Given the description of an element on the screen output the (x, y) to click on. 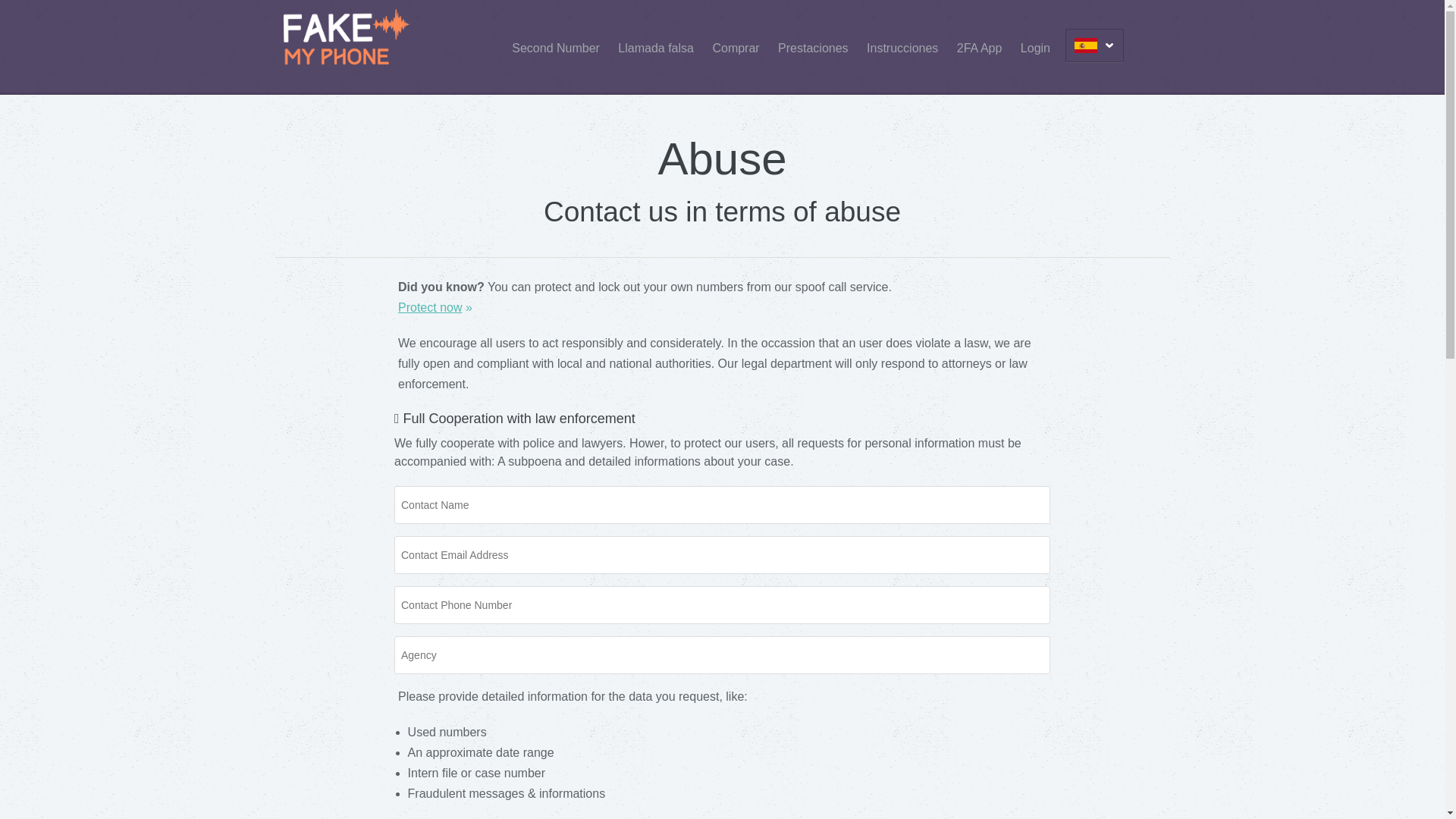
Comprar (734, 47)
Llamada falsa (655, 47)
Login (1034, 47)
Free 2FA App (979, 47)
Buy second number with crypto or card (555, 47)
Prestaciones (812, 47)
2FA App (979, 47)
Instrucciones (901, 47)
Second Number (555, 47)
